Given the description of an element on the screen output the (x, y) to click on. 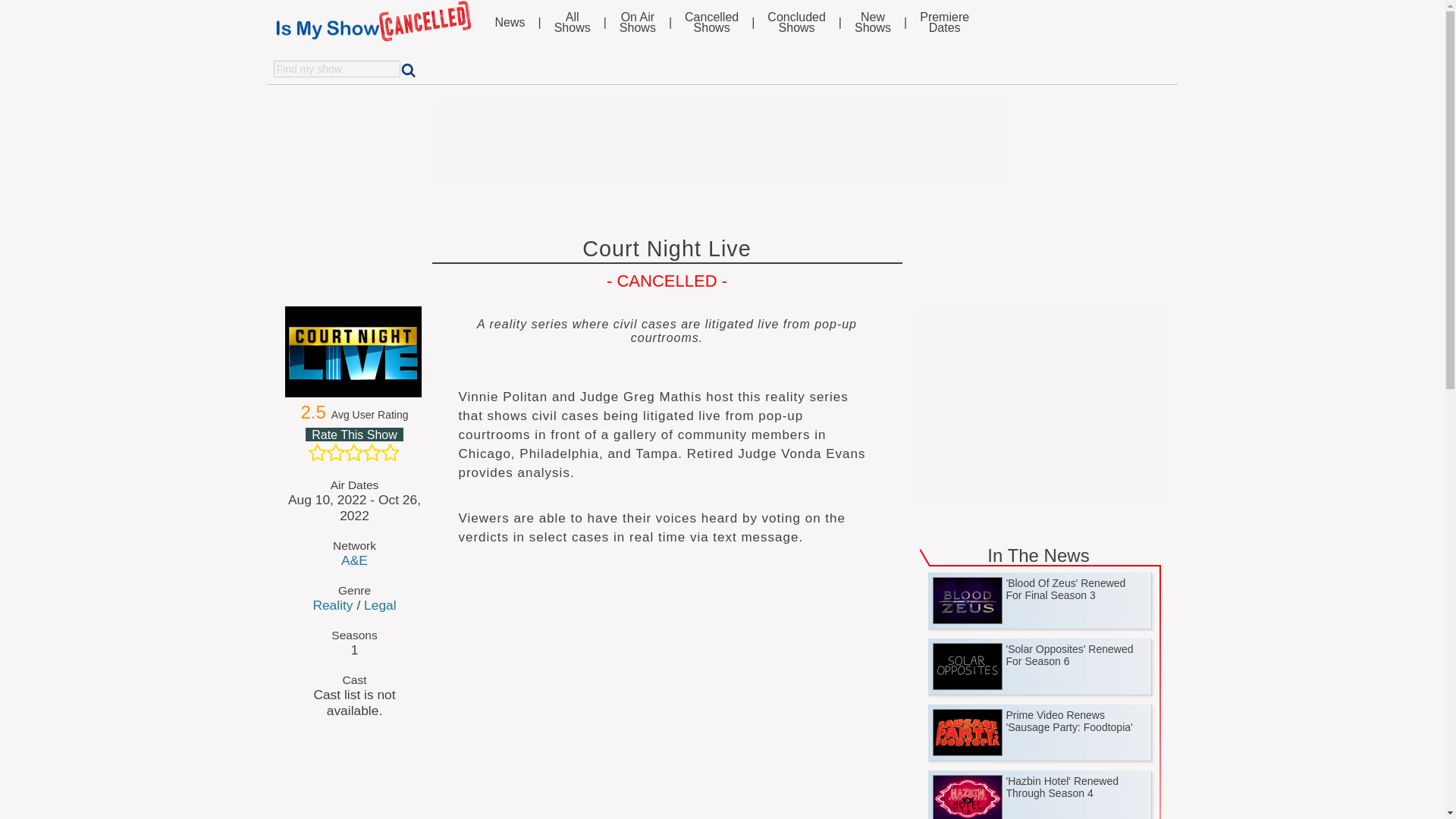
Advertisement (1040, 401)
Legal (380, 604)
News (509, 22)
Excellent (389, 452)
Good (371, 452)
Reality (638, 22)
Click on a star to rate (711, 22)
Not Great (572, 22)
Advertisement (332, 604)
Click on a star to rate (944, 22)
